Given the description of an element on the screen output the (x, y) to click on. 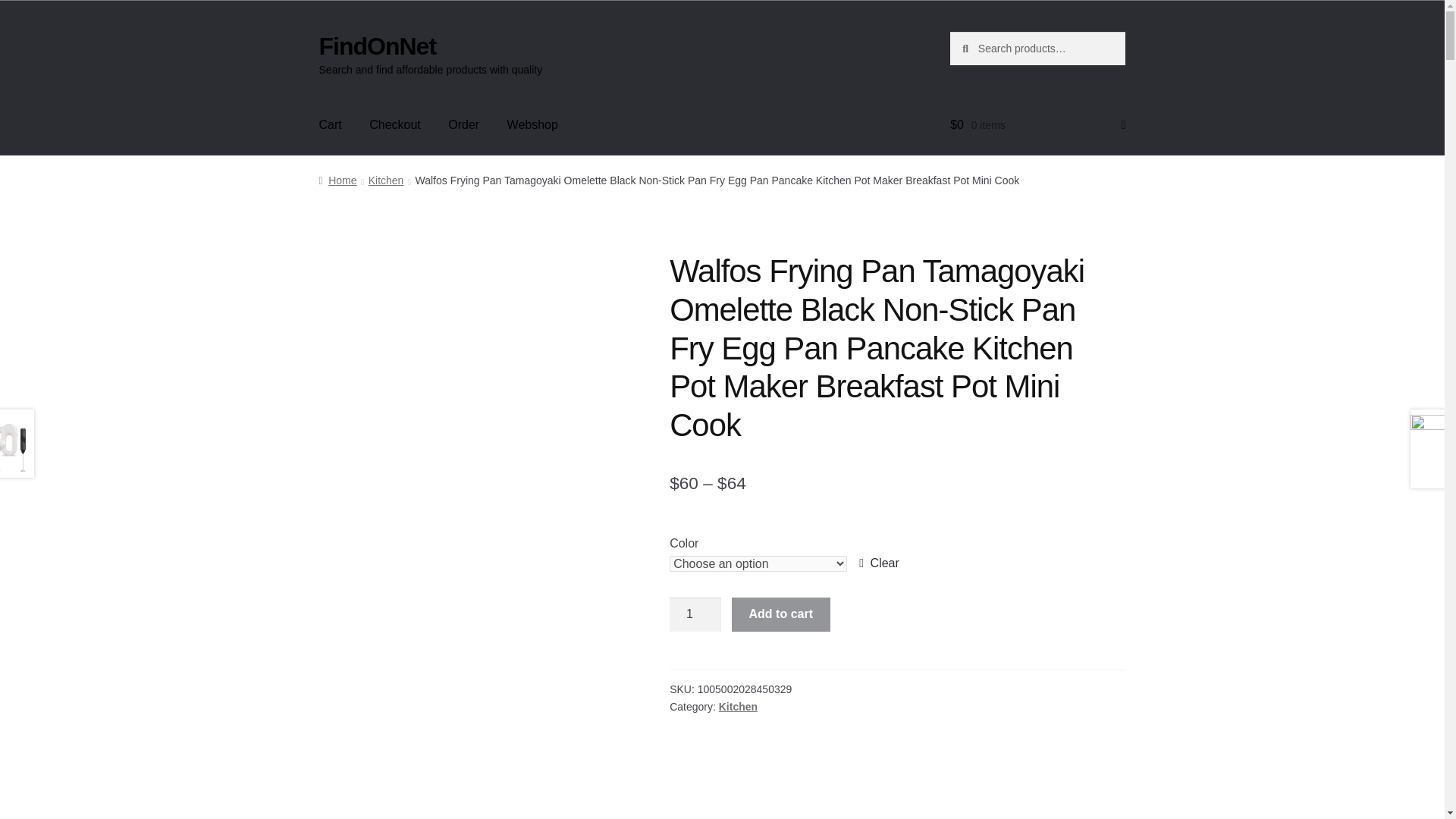
Home (337, 180)
Kitchen (386, 180)
Clear (879, 563)
Add to cart (780, 614)
Checkout (394, 124)
Kitchen (738, 706)
Webshop (532, 124)
FindOnNet (377, 45)
